Given the description of an element on the screen output the (x, y) to click on. 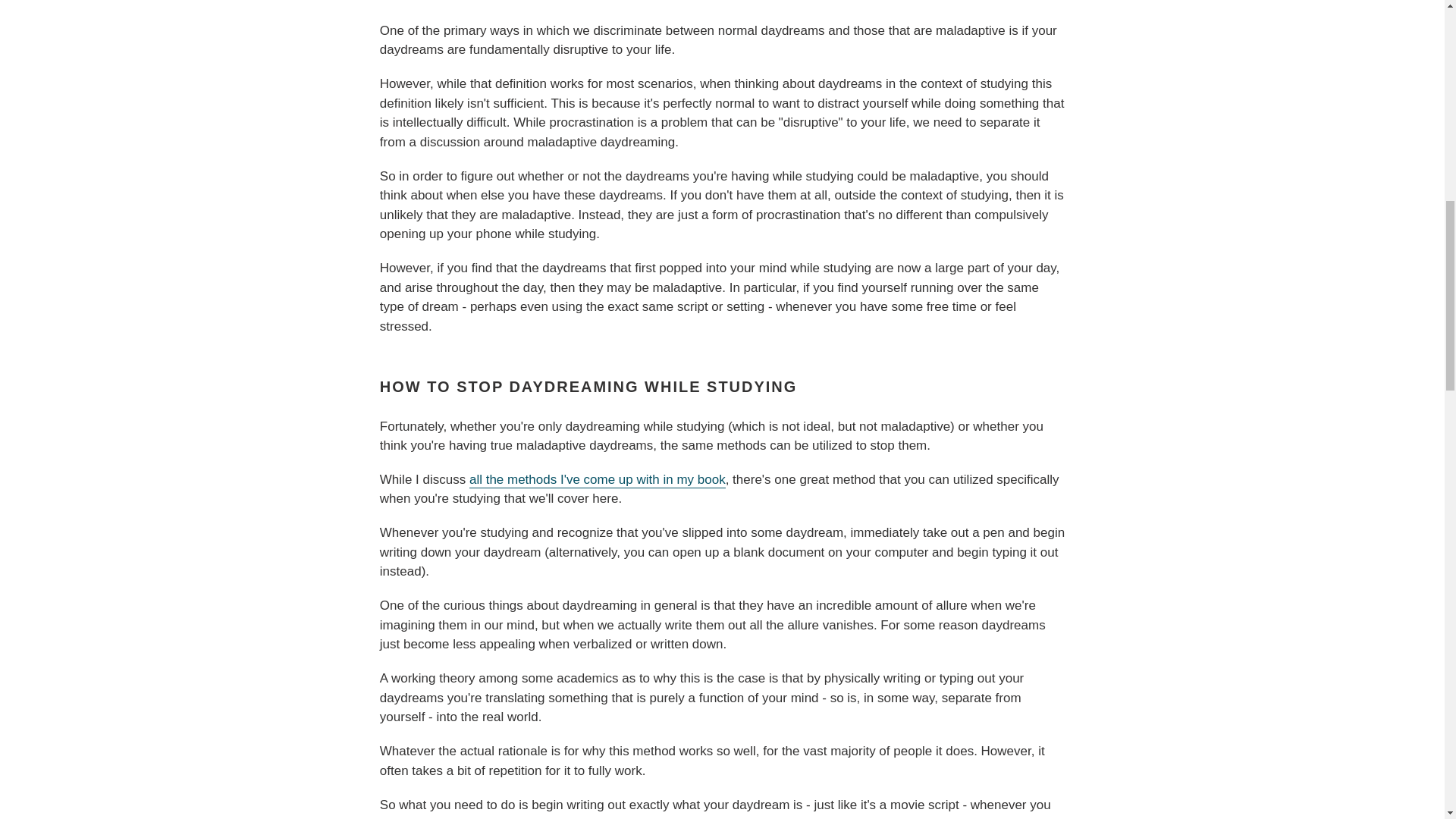
How to stop maladaptive daydreaming (596, 480)
all the methods I've come up with in my book (596, 480)
